Given the description of an element on the screen output the (x, y) to click on. 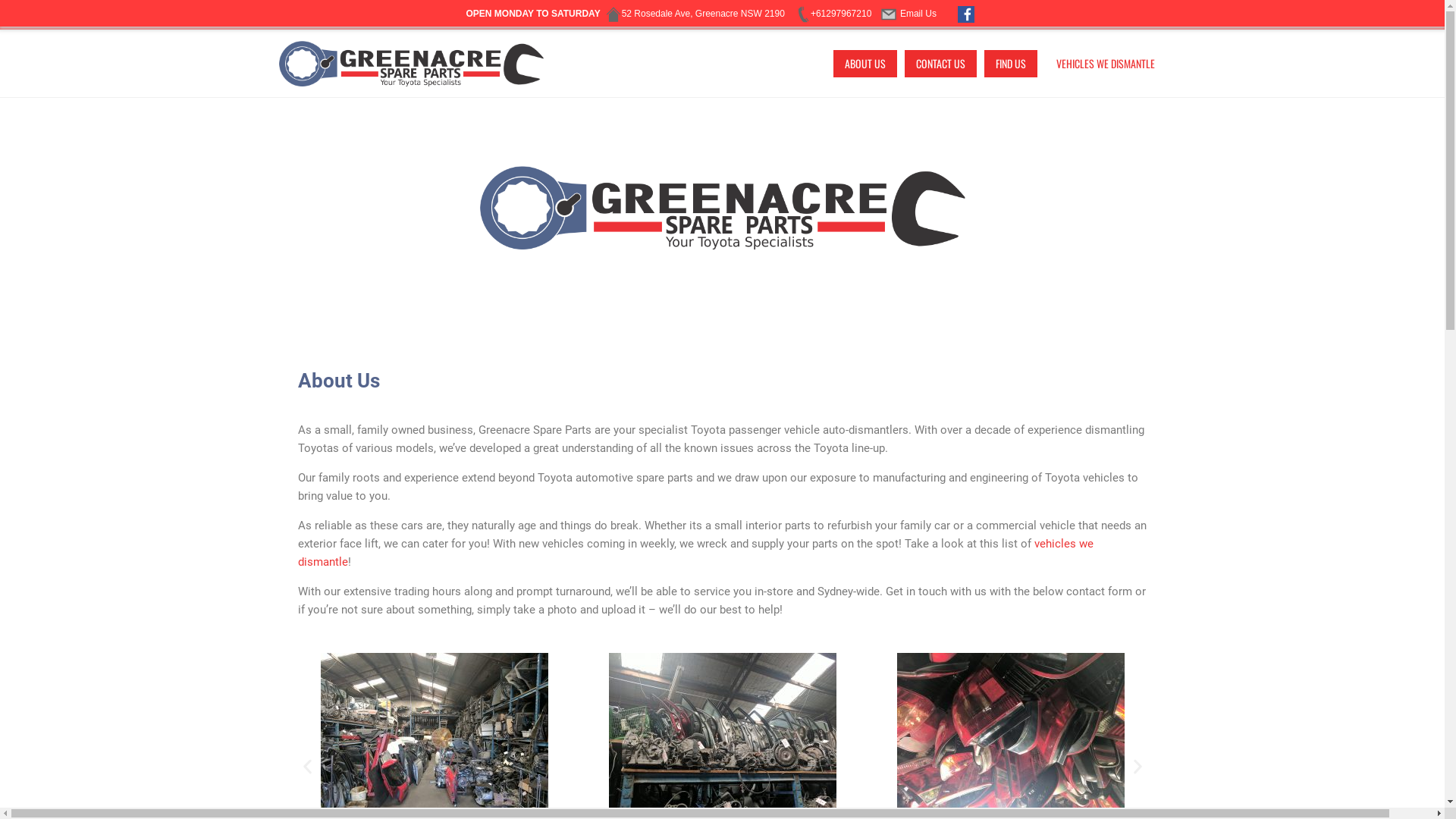
ABOUT US Element type: text (864, 63)
Facebook Element type: hover (965, 14)
FIND US Element type: text (1010, 63)
Email Us Element type: text (909, 13)
VEHICLES WE DISMANTLE Element type: text (1105, 63)
+61297967210 Element type: text (832, 13)
CONTACT US Element type: text (939, 63)
vehicles we dismantle Element type: text (694, 552)
